Given the description of an element on the screen output the (x, y) to click on. 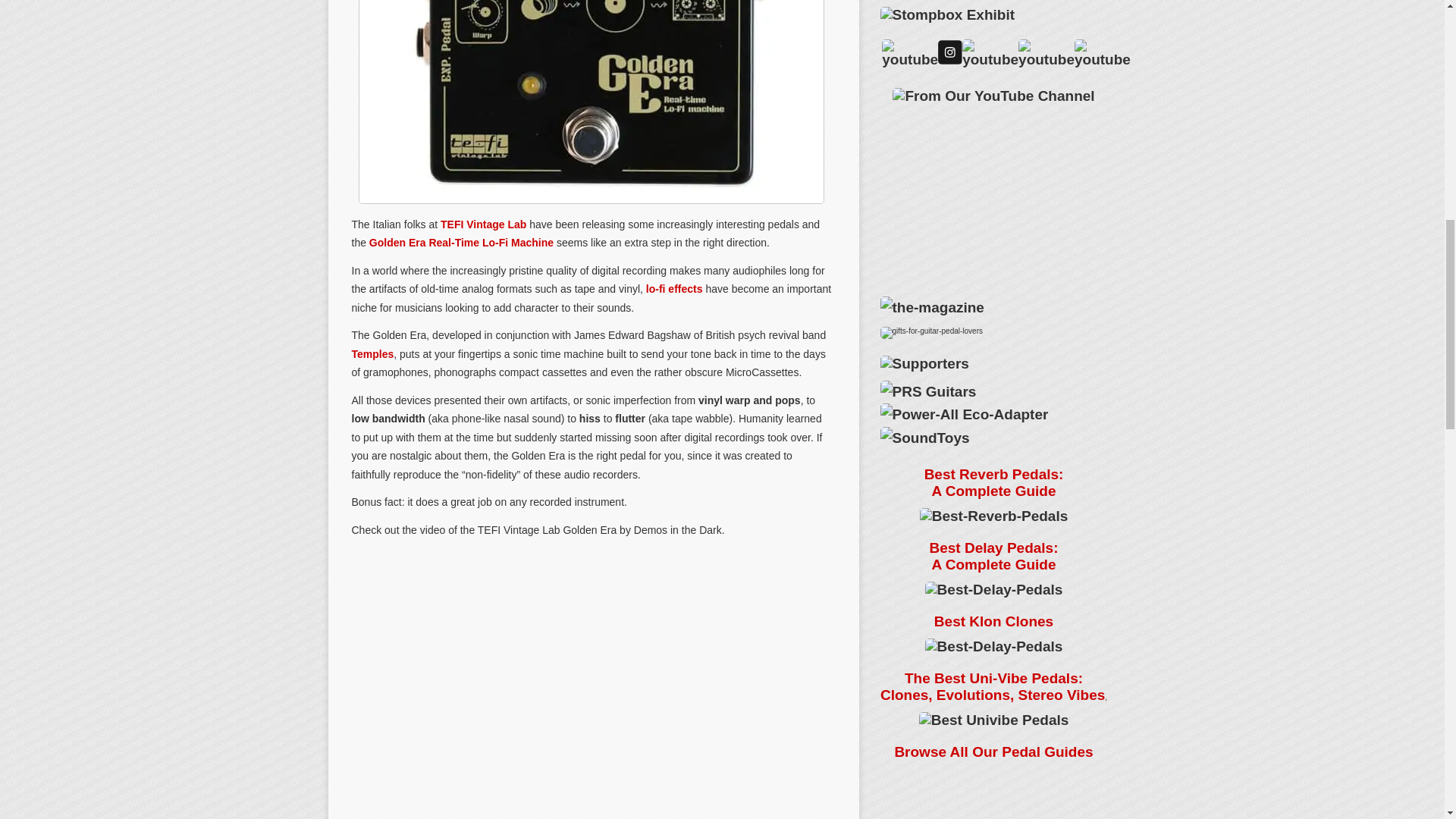
tefi (591, 101)
YouTube video player (992, 189)
Instant lofi bliss with the Tefi Vintage Labs: Golden Era (591, 654)
What's New At Little Box? - TEFI Vintage Labs Golden Era (591, 797)
